Given the description of an element on the screen output the (x, y) to click on. 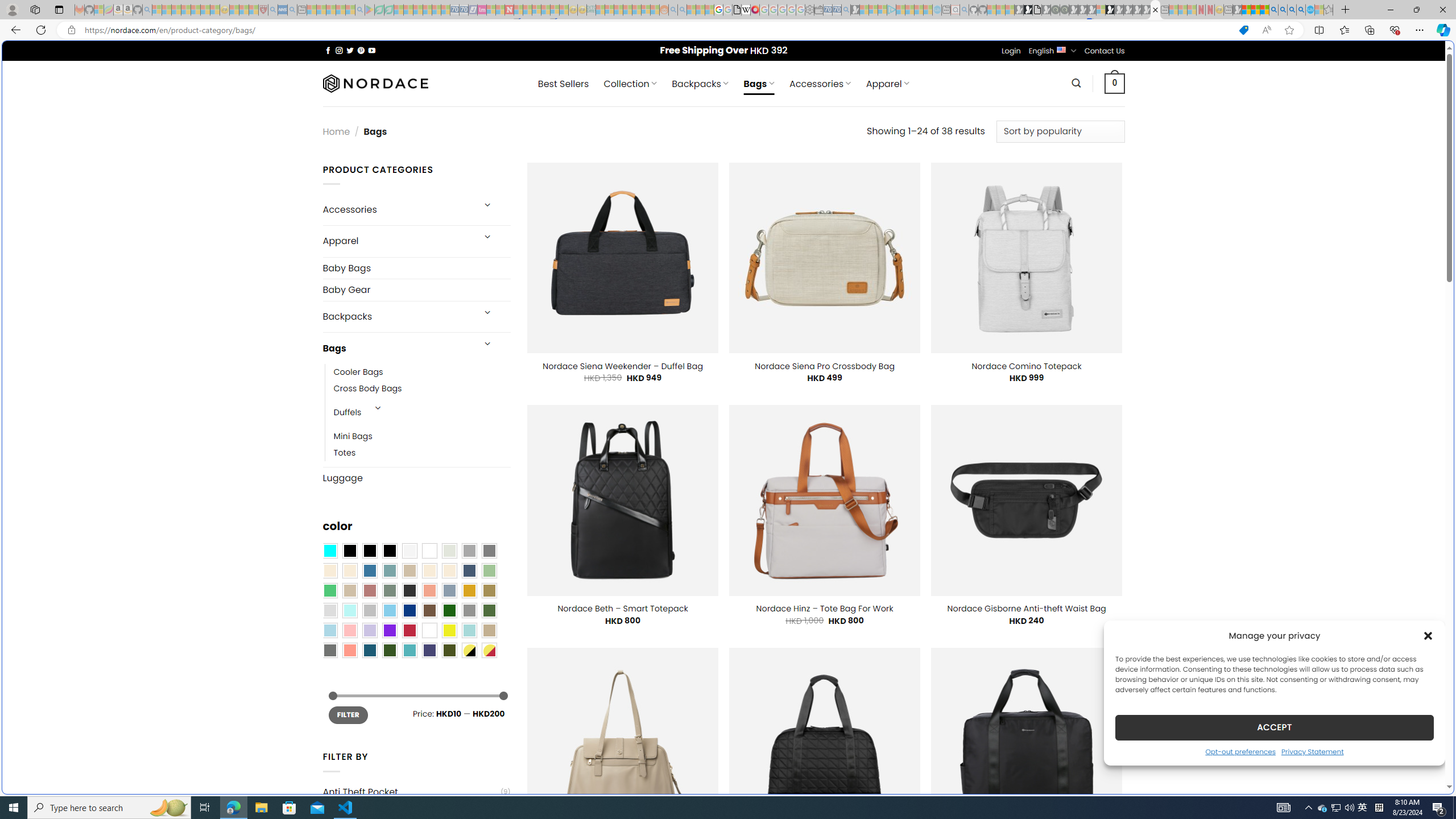
Peach Pink (349, 649)
Tabs you've opened (885, 151)
Gold (468, 590)
Privacy Statement (1312, 750)
Cooler Bags (422, 371)
Beige (329, 570)
